Given the description of an element on the screen output the (x, y) to click on. 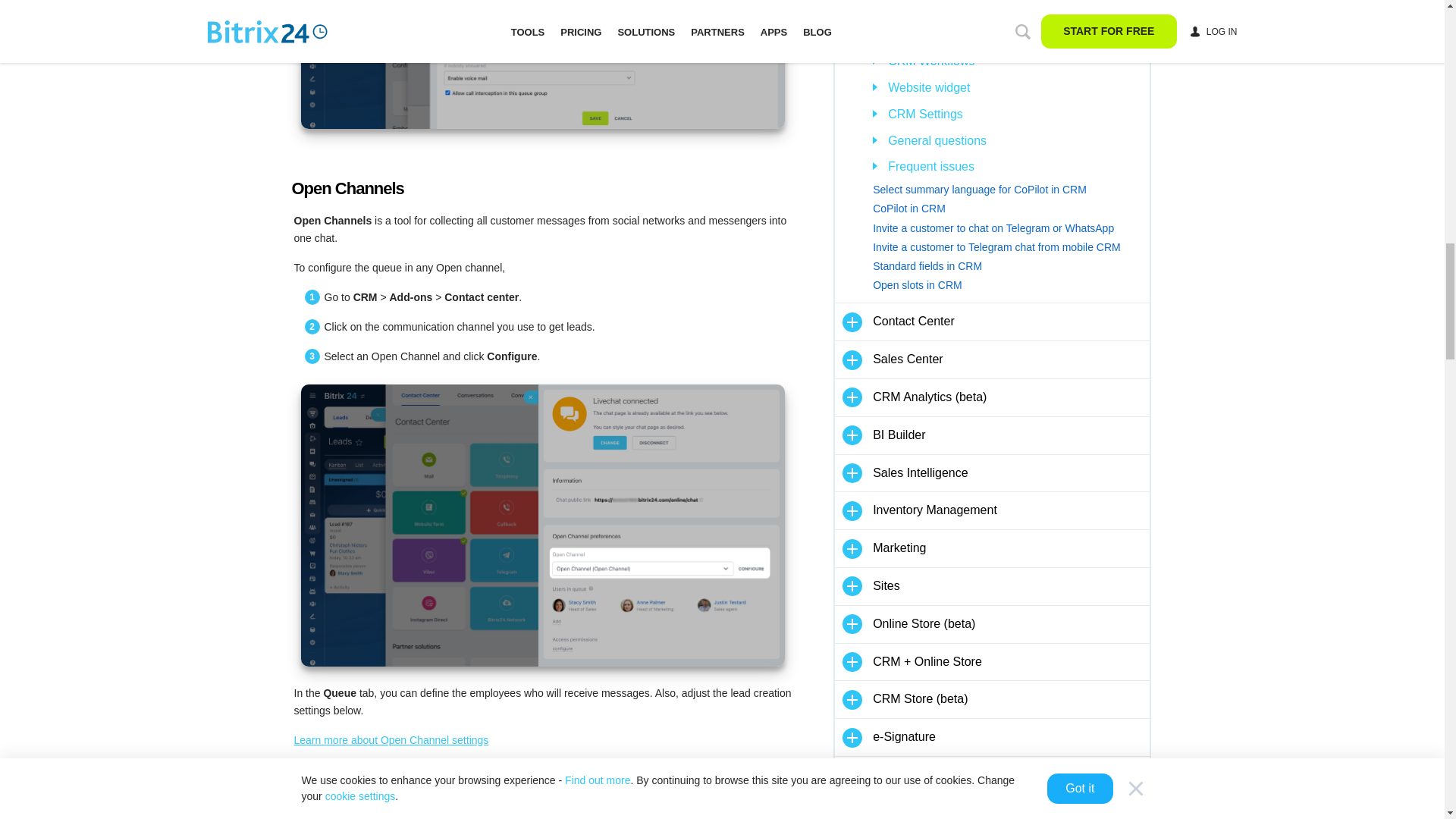
Select summary language for CoPilot in CRM (1010, 189)
Open Channel queue (541, 793)
CoPilot in CRM (1010, 208)
Agents (541, 64)
Invite a customer to chat on Telegram or WhatsApp (1010, 228)
Learn more about Open Channel settings (391, 739)
